Given the description of an element on the screen output the (x, y) to click on. 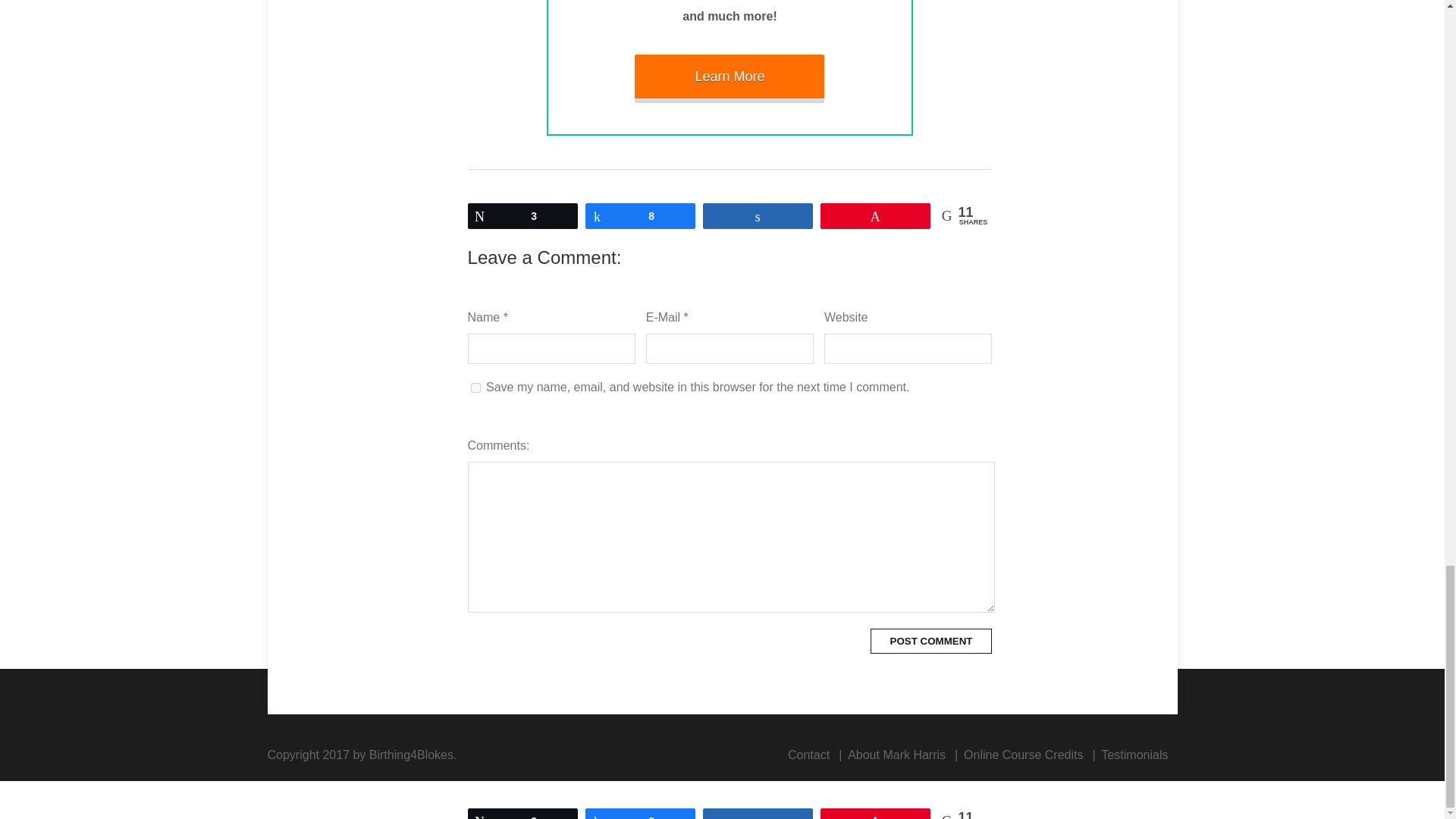
Contact (808, 754)
About Mark Harris (895, 754)
3 (522, 214)
Testimonials (1133, 754)
Online Course Credits (1023, 754)
yes (475, 388)
8 (640, 214)
Learn More (729, 76)
Post Comment (930, 640)
Post Comment (930, 640)
